Given the description of an element on the screen output the (x, y) to click on. 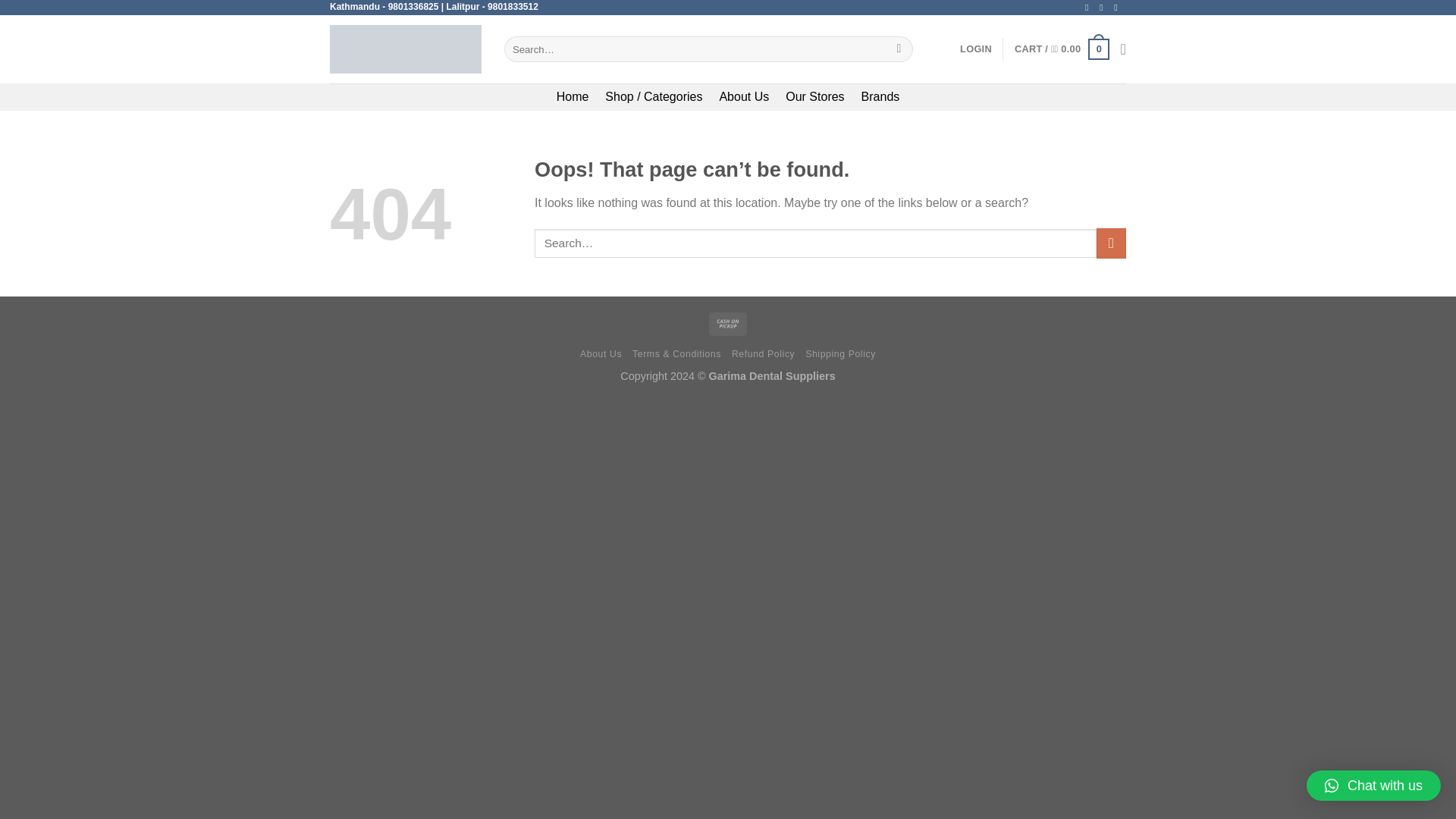
Brands (880, 96)
About Us (600, 353)
LOGIN (975, 49)
Shipping Policy (840, 353)
Home (572, 96)
Refund Policy (763, 353)
About Us (743, 96)
Cart (1061, 48)
Garima Dental Suppliers - Dental Suppliers for Nepal Only (405, 48)
Search (898, 49)
